Given the description of an element on the screen output the (x, y) to click on. 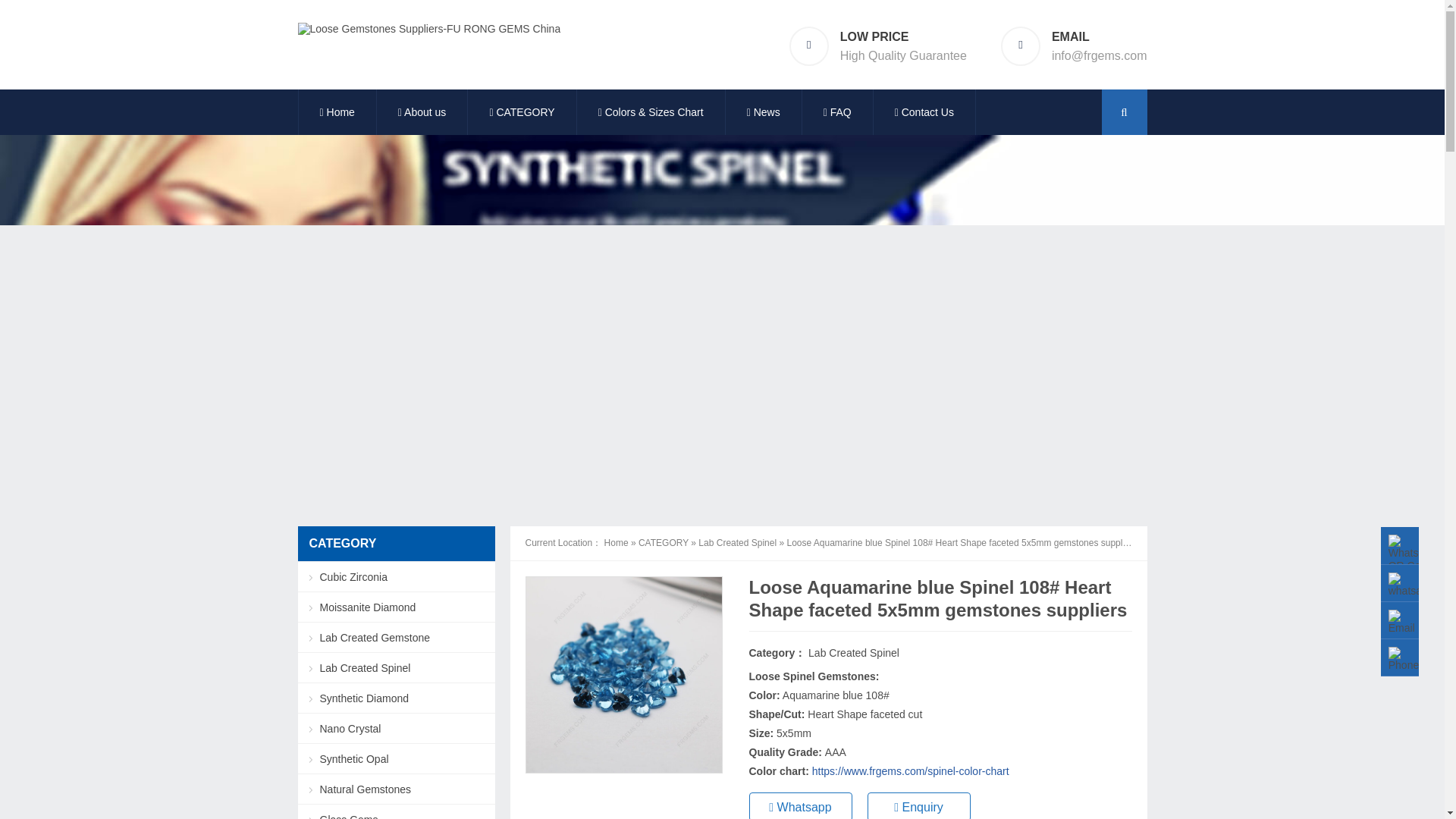
Contact Us (924, 115)
whatsapp (1410, 585)
News (763, 115)
Home (336, 115)
CATEGORY (521, 115)
About us (422, 115)
FAQ (837, 115)
Whatsapp QR Code (1412, 553)
